Given the description of an element on the screen output the (x, y) to click on. 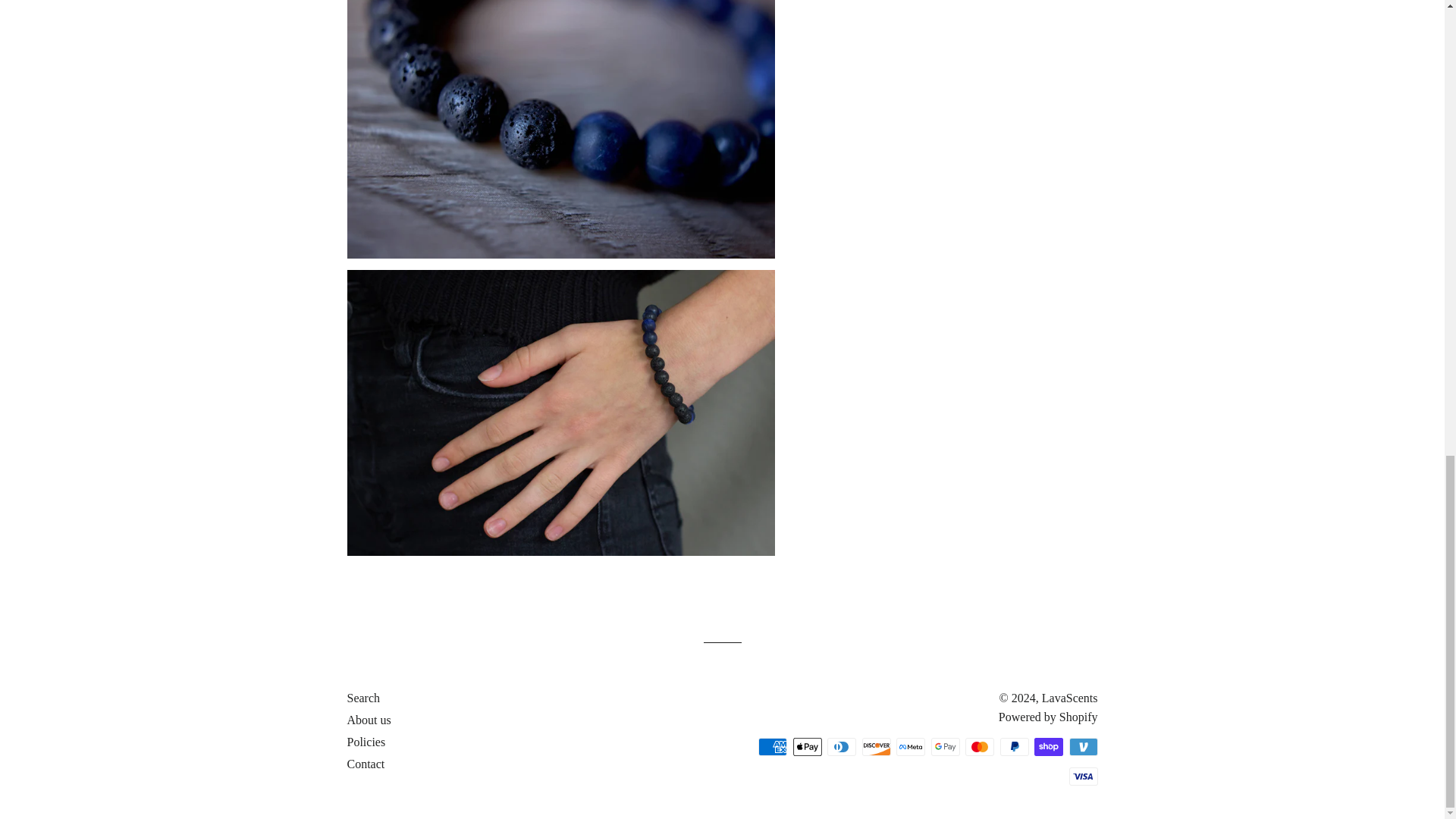
Apple Pay (807, 746)
Google Pay (945, 746)
Visa (1082, 776)
American Express (772, 746)
Diners Club (841, 746)
Meta Pay (910, 746)
Search (363, 697)
PayPal (1012, 746)
About us (369, 719)
Discover (875, 746)
Shop Pay (1047, 746)
Mastercard (979, 746)
Venmo (1082, 746)
